Given the description of an element on the screen output the (x, y) to click on. 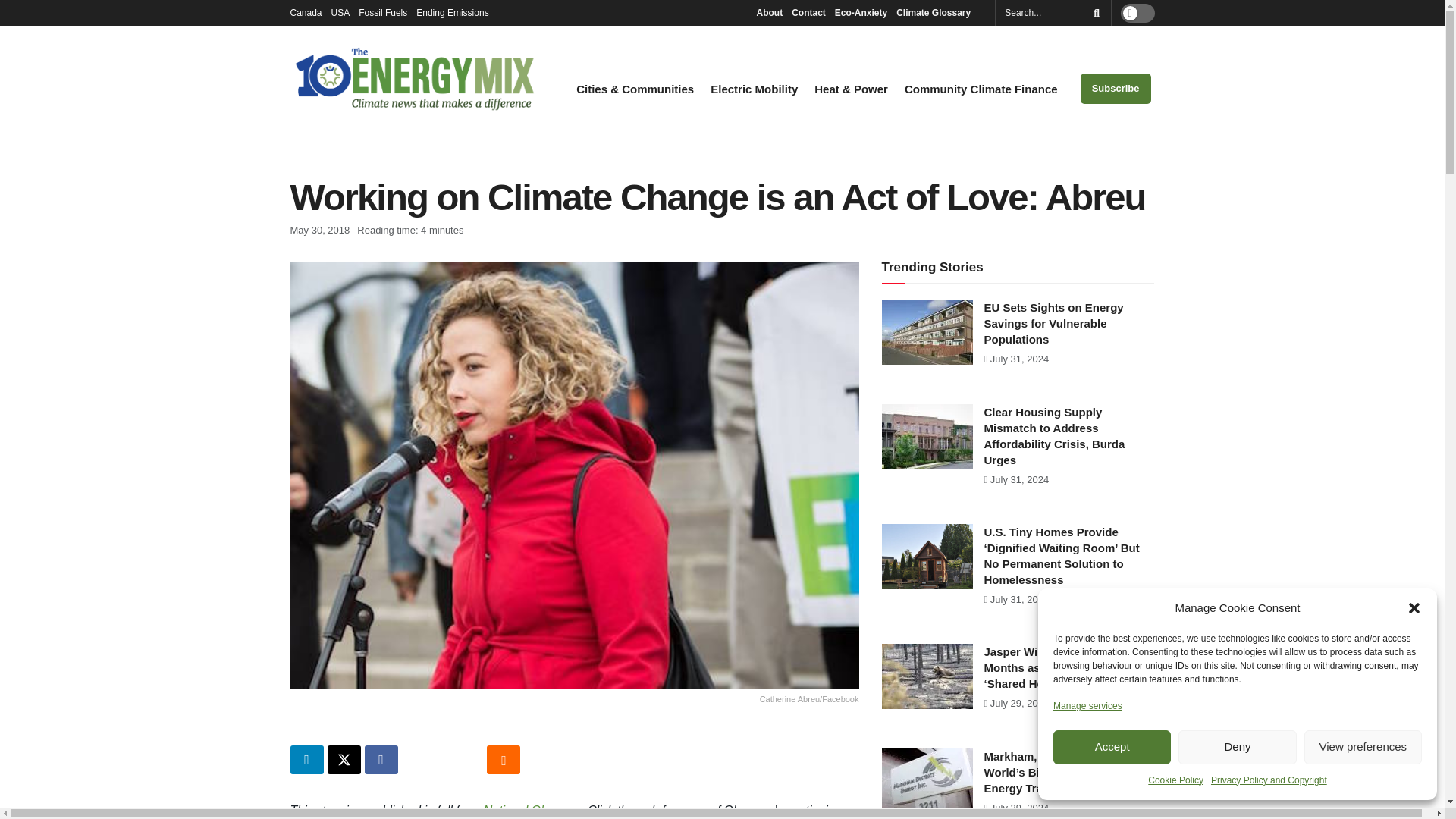
Eco-Anxiety (860, 12)
Subscribe (1115, 88)
Manage services (1087, 705)
Ending Emissions (456, 12)
Climate Glossary (937, 12)
Cookie Policy (1176, 780)
View preferences (1363, 747)
Electric Mobility (753, 89)
Privacy Policy and Copyright (1268, 780)
Canada (305, 12)
